Given the description of an element on the screen output the (x, y) to click on. 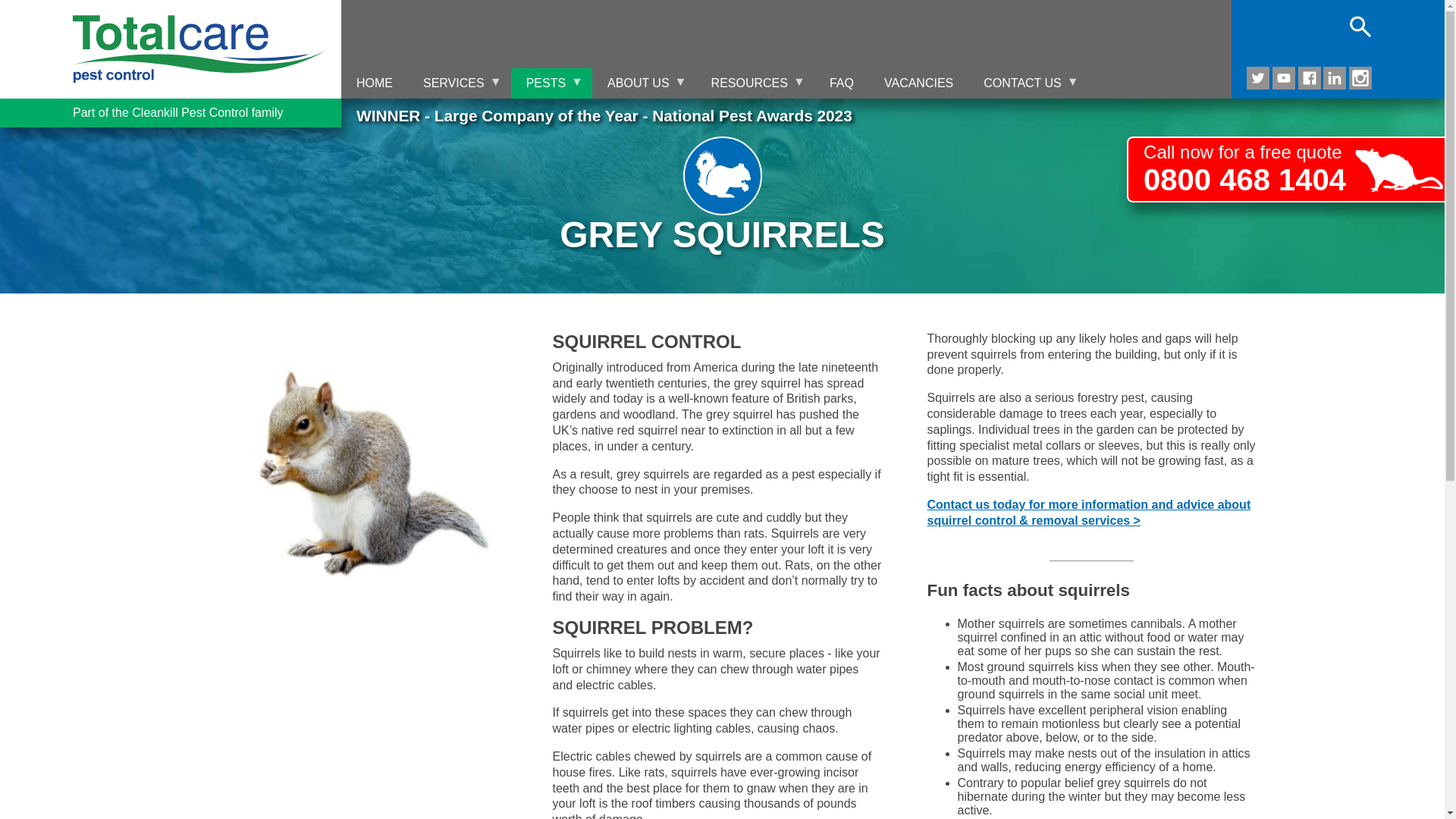
HOME (373, 82)
